Given the description of an element on the screen output the (x, y) to click on. 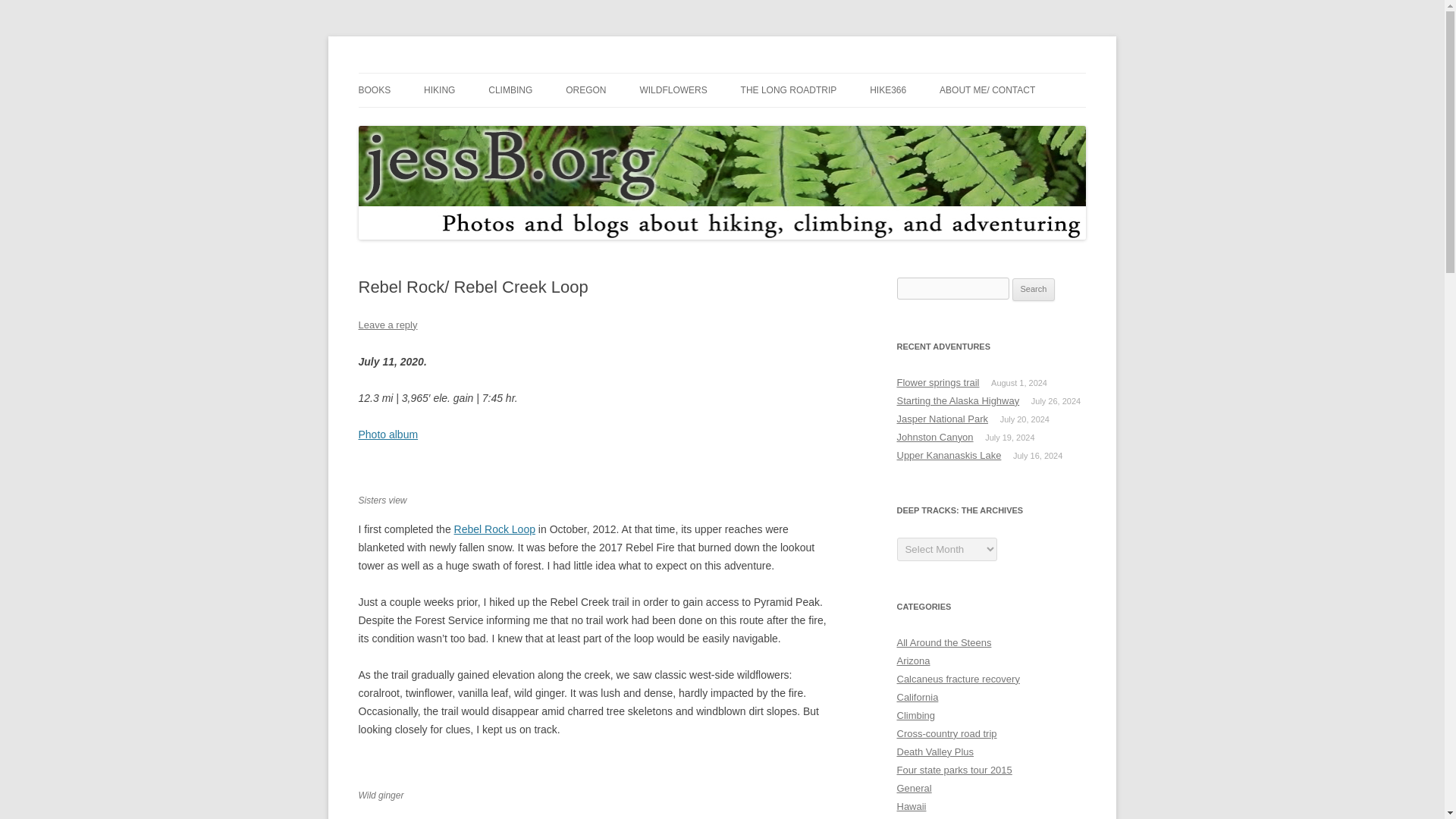
Jasper National Park (942, 419)
All Around the Steens (943, 642)
Calcaneus fracture recovery (957, 678)
WILDFLOWERS (672, 90)
Flower springs trail (937, 382)
Cross-country road trip (945, 733)
Photo album (387, 434)
Upper Kananaskis Lake (948, 455)
Arizona (913, 660)
CLIMBING (509, 90)
THE LONG ROADTRIP (789, 90)
BOOKS (374, 90)
Johnston Canyon (934, 437)
Search (1033, 289)
